Given the description of an element on the screen output the (x, y) to click on. 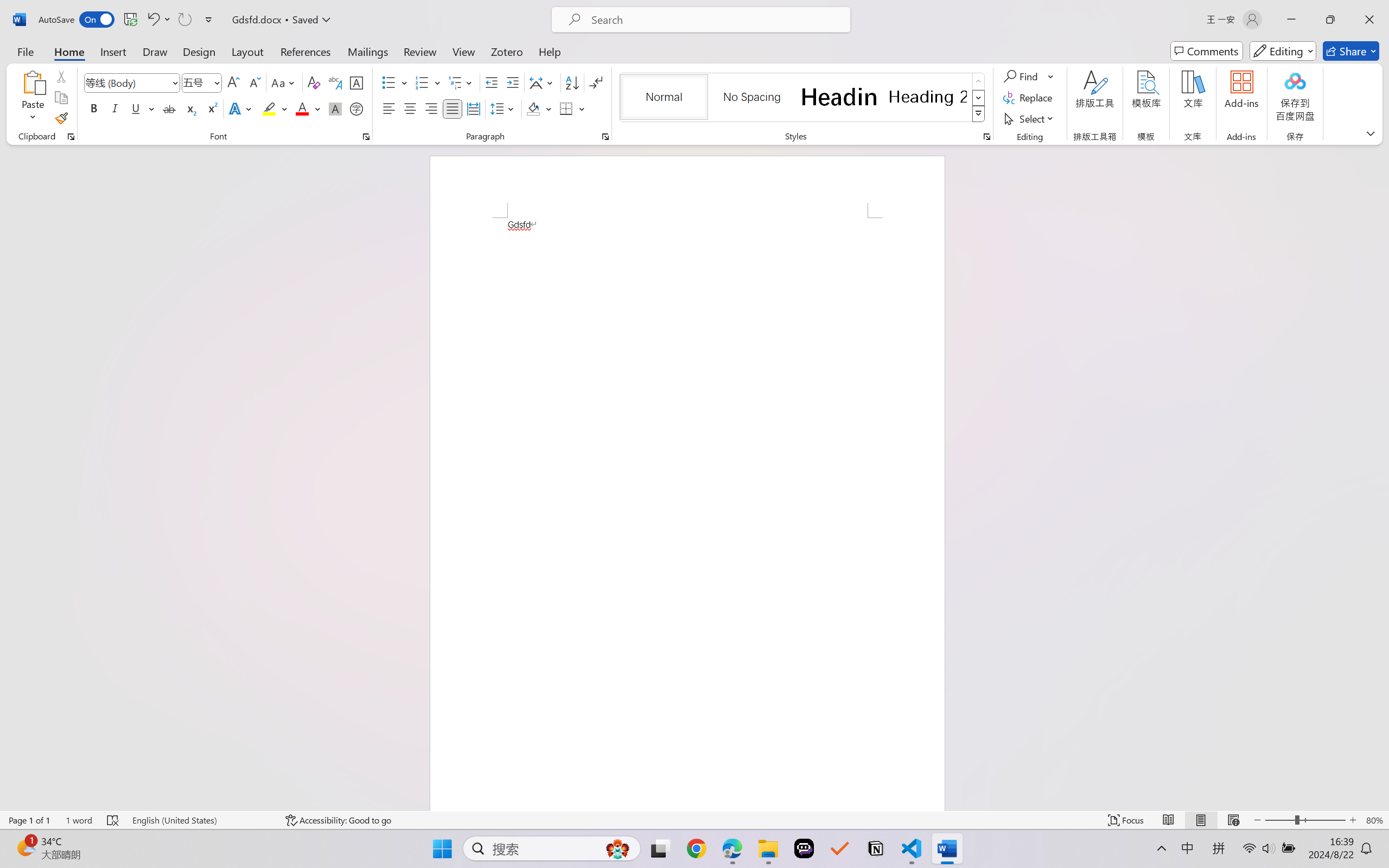
AutomationID: QuickStylesGallery (802, 97)
Can't Repeat (184, 19)
Spelling and Grammar Check Errors (113, 819)
